Given the description of an element on the screen output the (x, y) to click on. 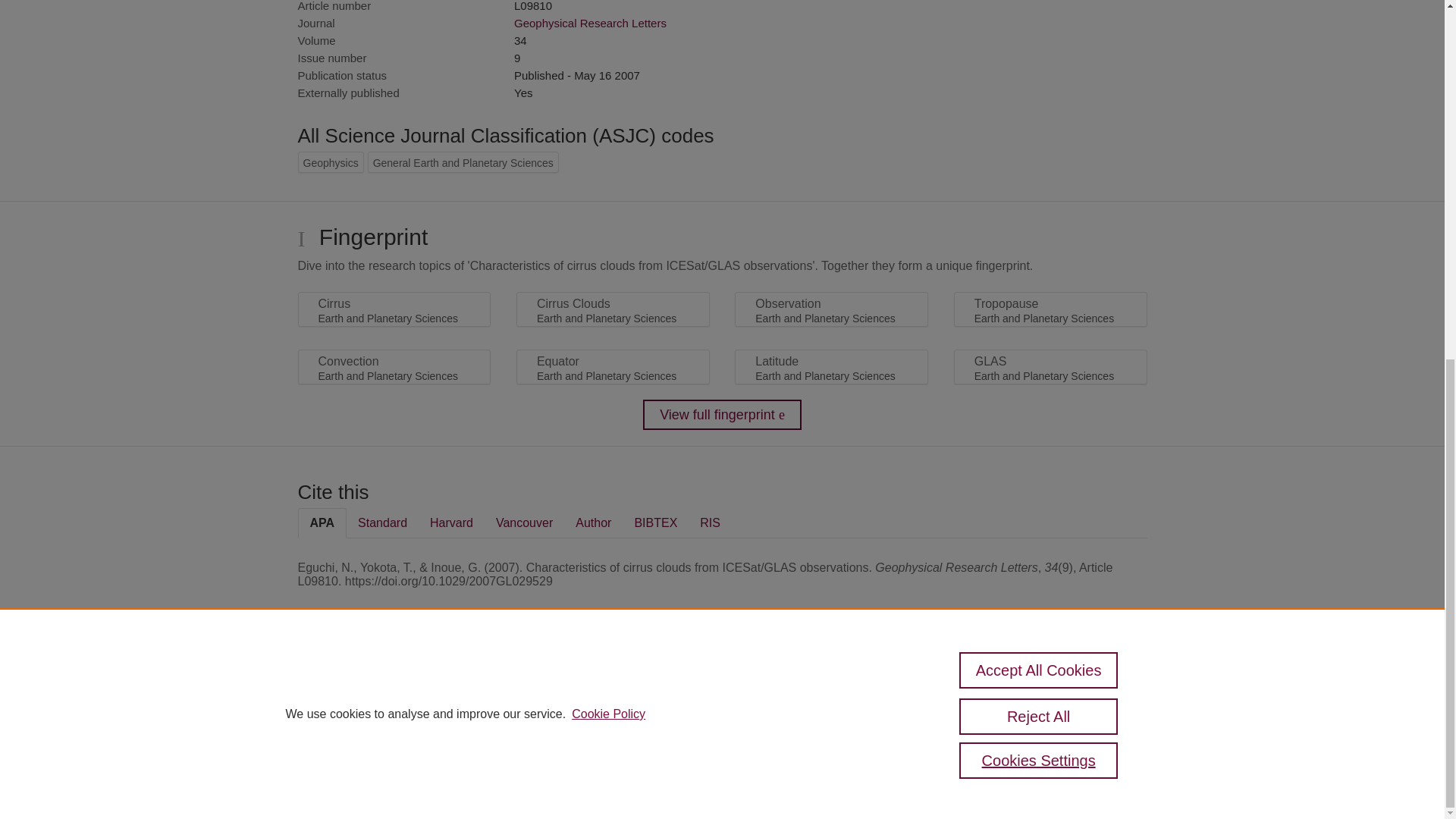
Pure (362, 686)
Elsevier B.V. (506, 707)
Geophysical Research Letters (589, 22)
View full fingerprint (722, 414)
Scopus (394, 686)
